Given the description of an element on the screen output the (x, y) to click on. 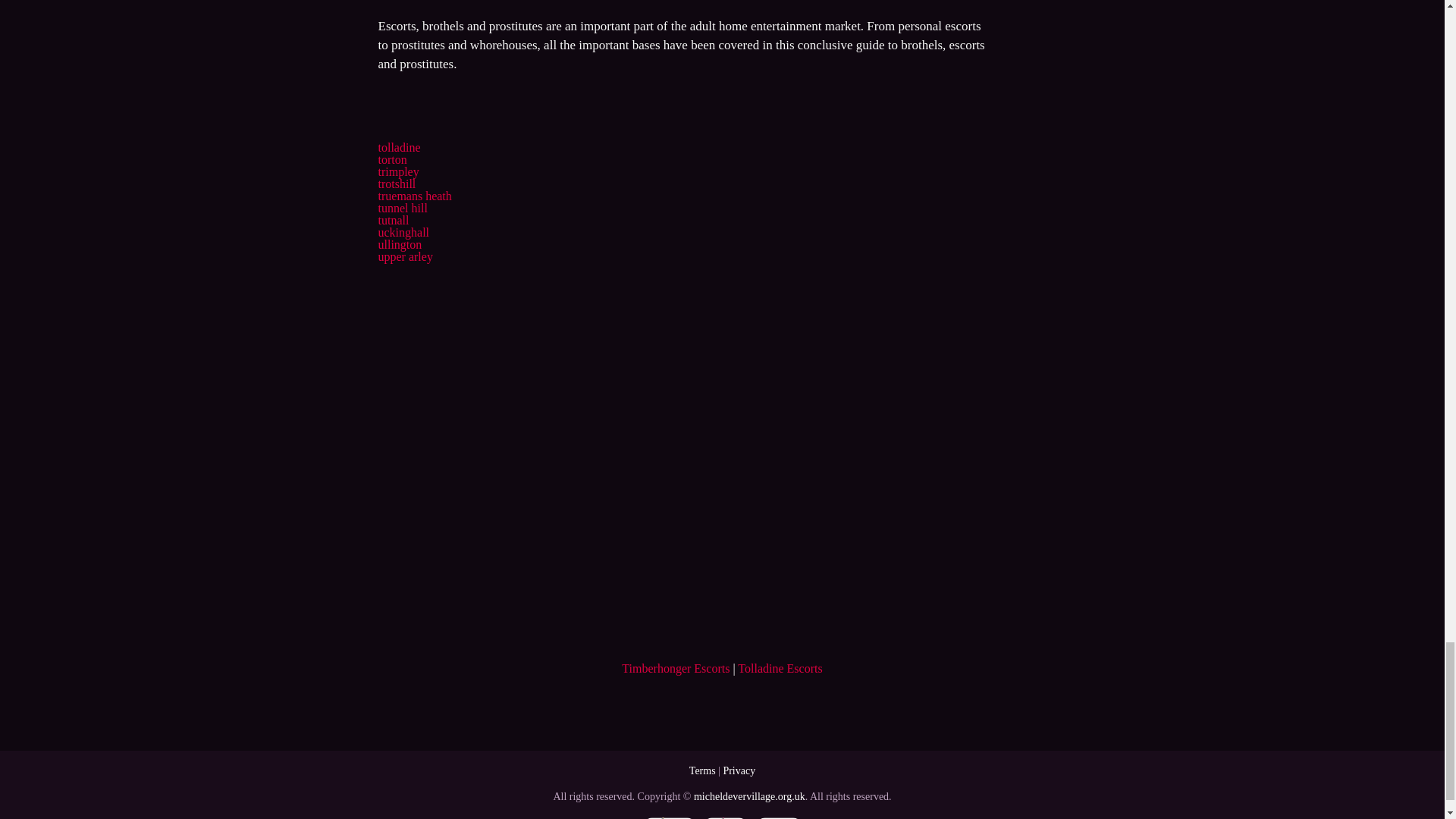
tunnel hill (401, 207)
tolladine (398, 146)
Privacy (738, 770)
ullington (399, 244)
uckinghall (403, 232)
trotshill (395, 183)
Privacy (738, 770)
micheldevervillage.org.uk (749, 796)
Timberhonger Escorts (675, 667)
upper arley (404, 256)
truemans heath (414, 195)
Tolladine Escorts (780, 667)
torton (391, 159)
trimpley (398, 171)
Terms (702, 770)
